Given the description of an element on the screen output the (x, y) to click on. 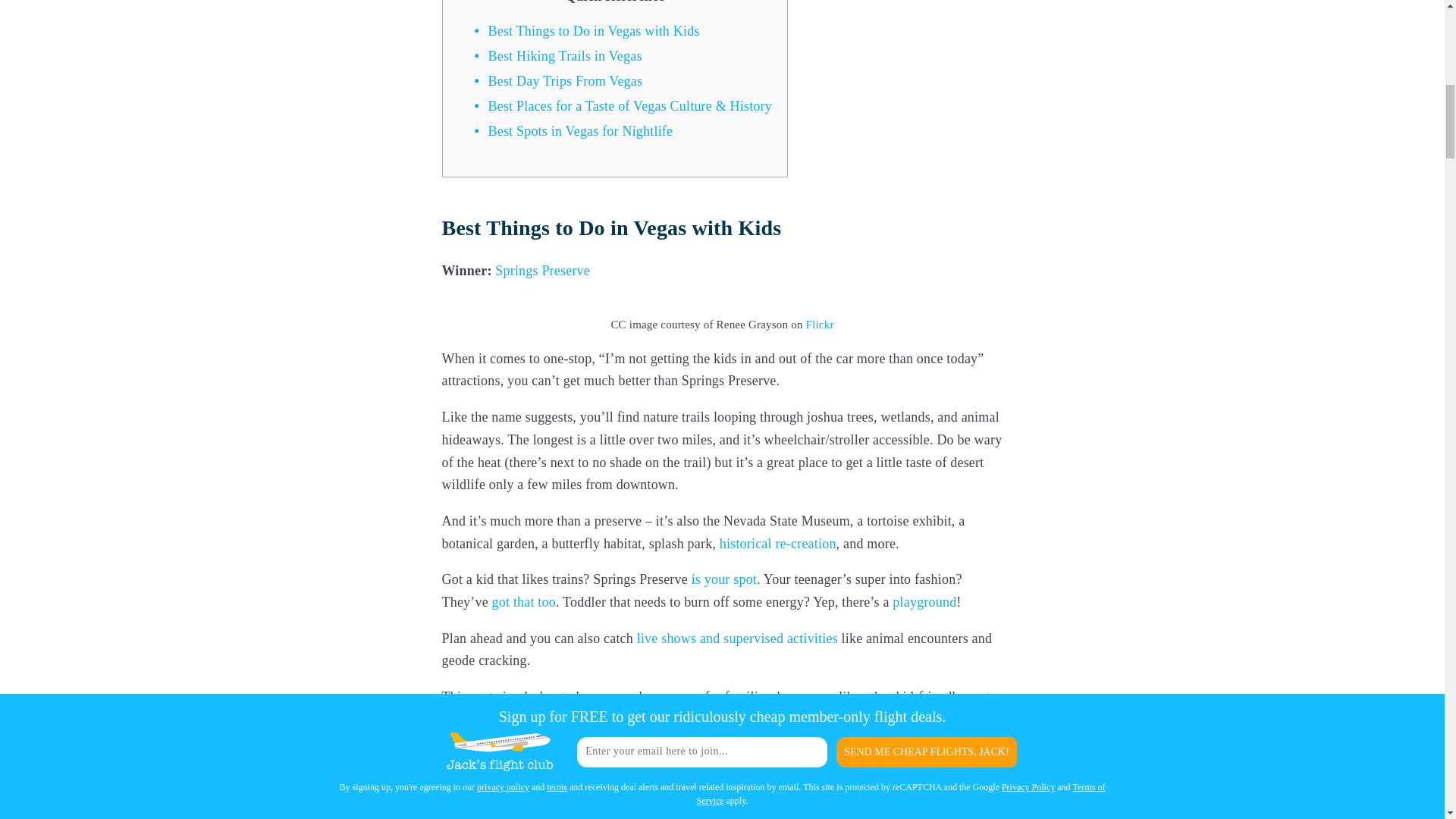
Best Hiking Trails in Vegas (564, 56)
Best Things to Do in Vegas with Kids (593, 31)
historical re-creation (777, 544)
is your spot (724, 579)
Best Spots in Vegas for Nightlife (579, 131)
Flickr (820, 325)
got that too (524, 602)
Springs Preserve (542, 271)
Best Day Trips From Vegas (565, 81)
